Given the description of an element on the screen output the (x, y) to click on. 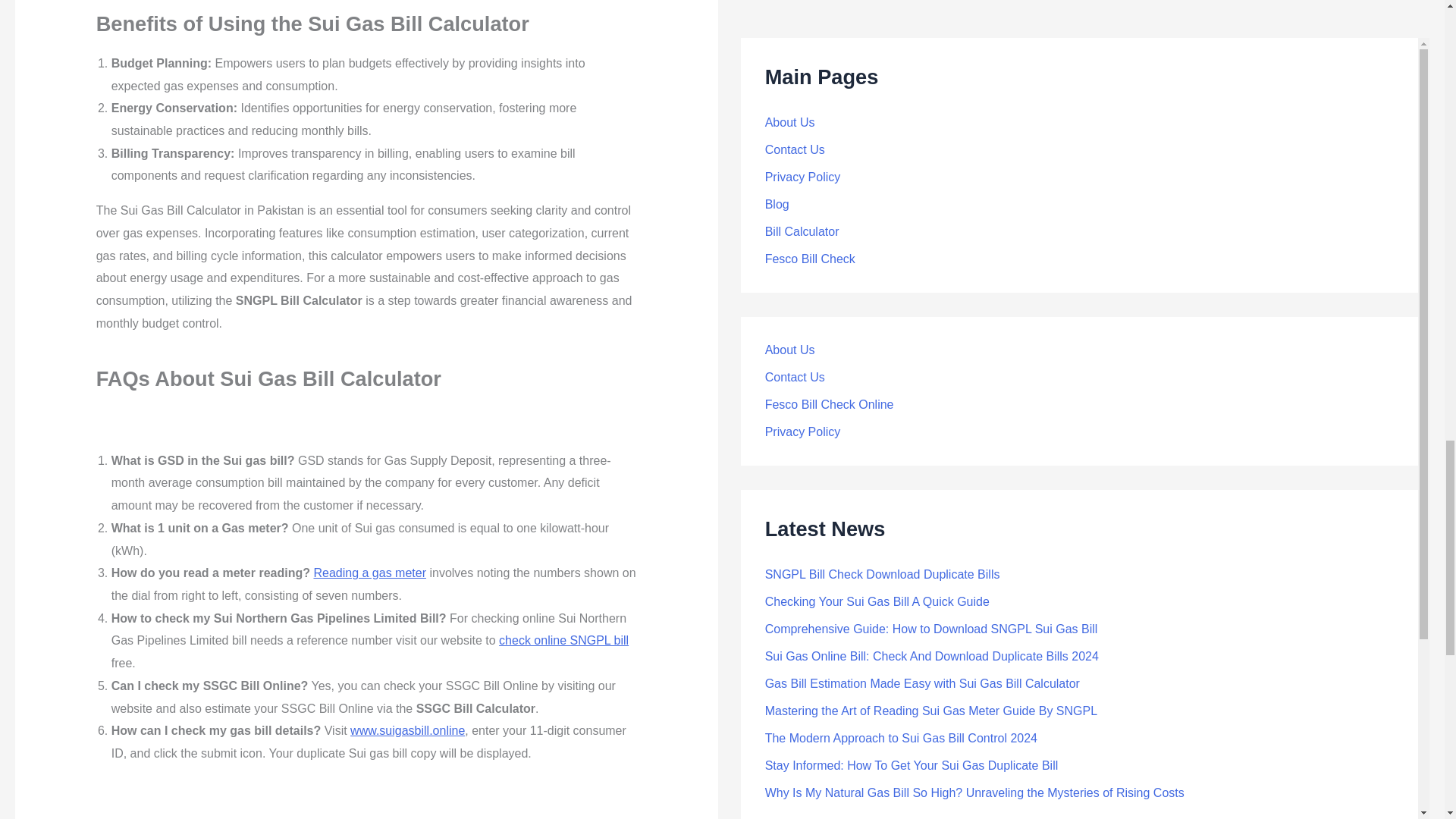
Reading a gas meter (369, 572)
www.suigasbill.online (407, 730)
check online SNGPL bill (563, 640)
